Given the description of an element on the screen output the (x, y) to click on. 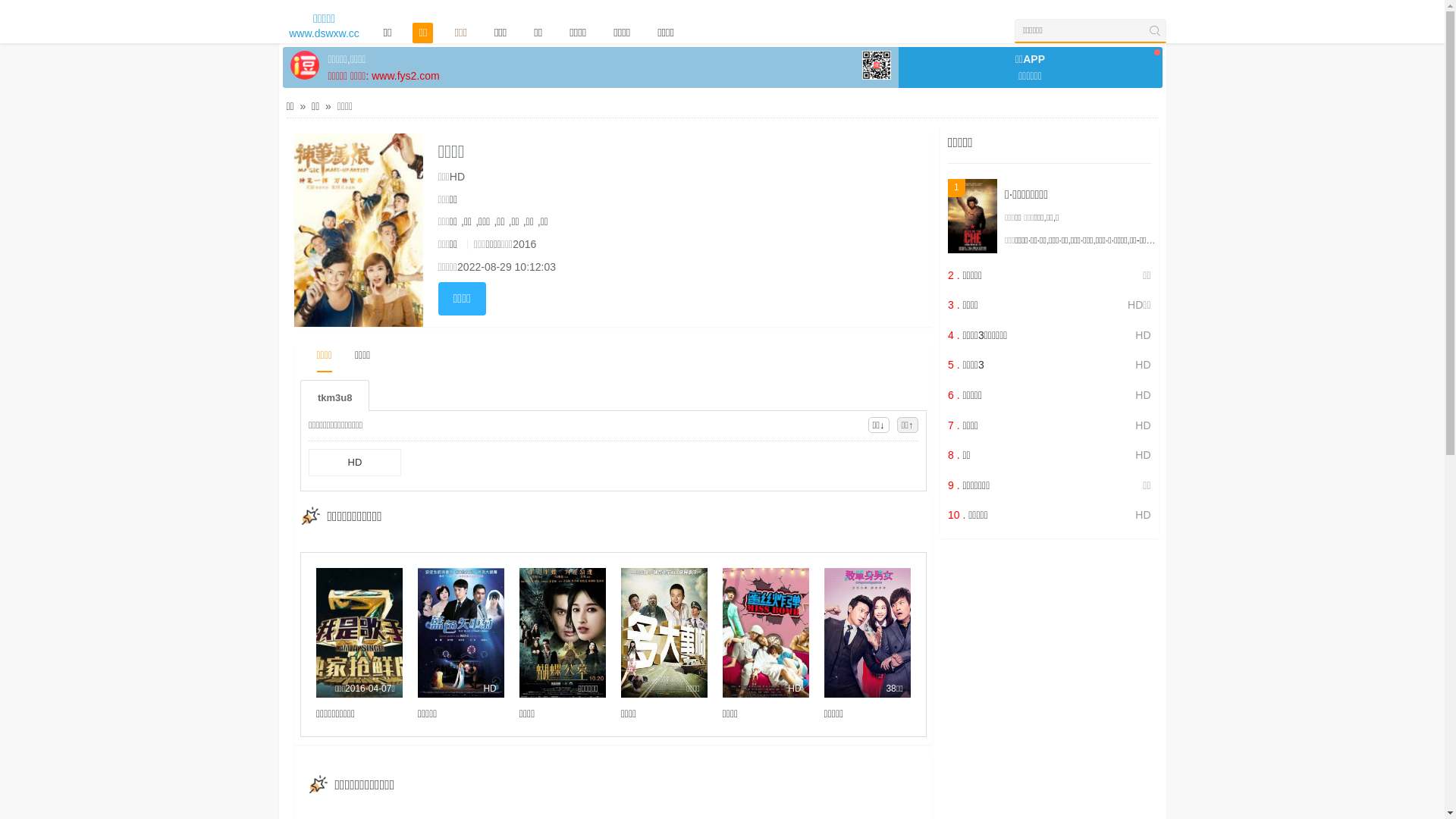
HD Element type: text (460, 632)
HD Element type: text (354, 462)
1 Element type: text (972, 215)
tkm3u8 Element type: text (335, 395)
HD Element type: text (765, 632)
